Given the description of an element on the screen output the (x, y) to click on. 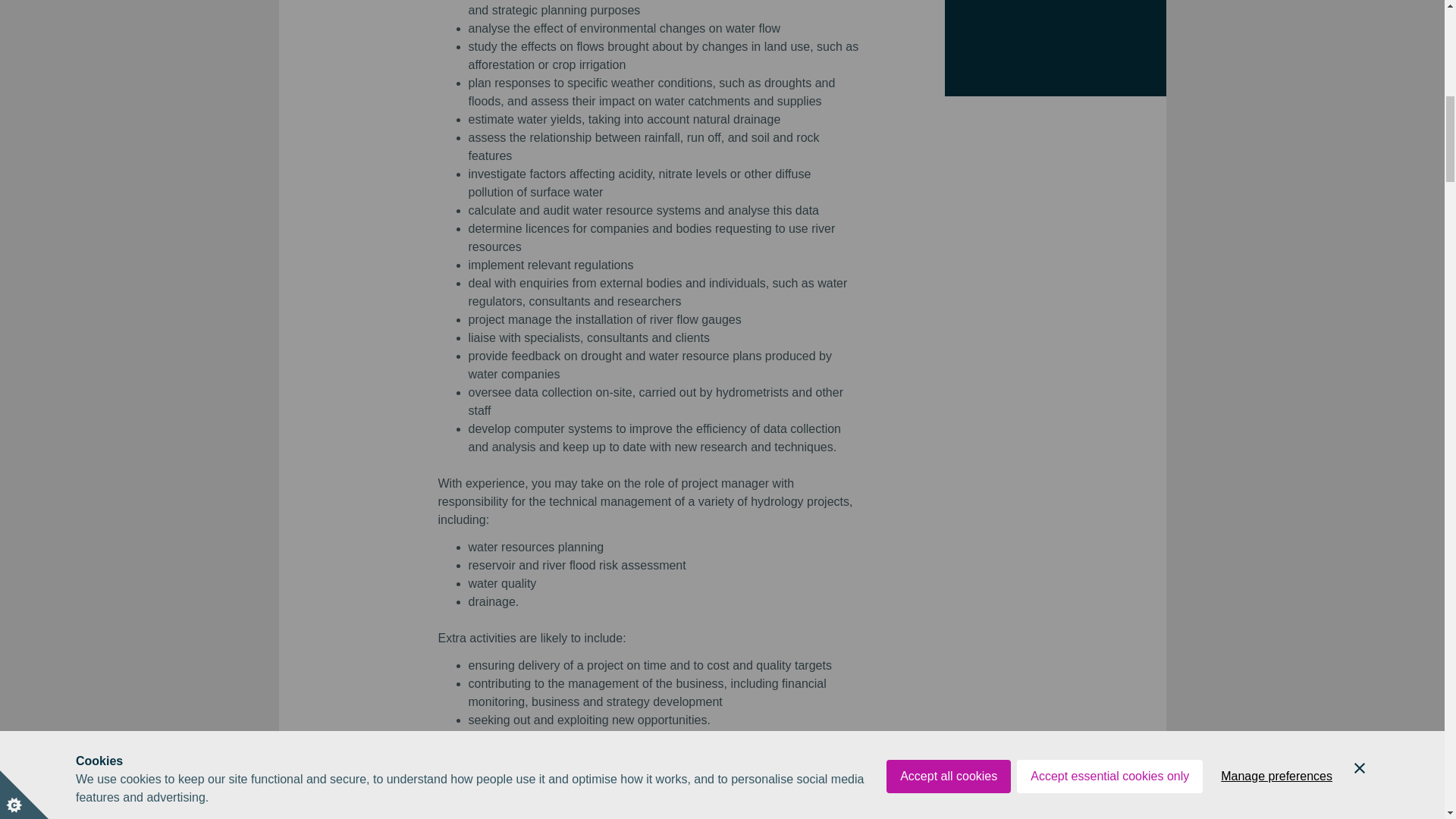
Accept all cookies (948, 9)
